Given the description of an element on the screen output the (x, y) to click on. 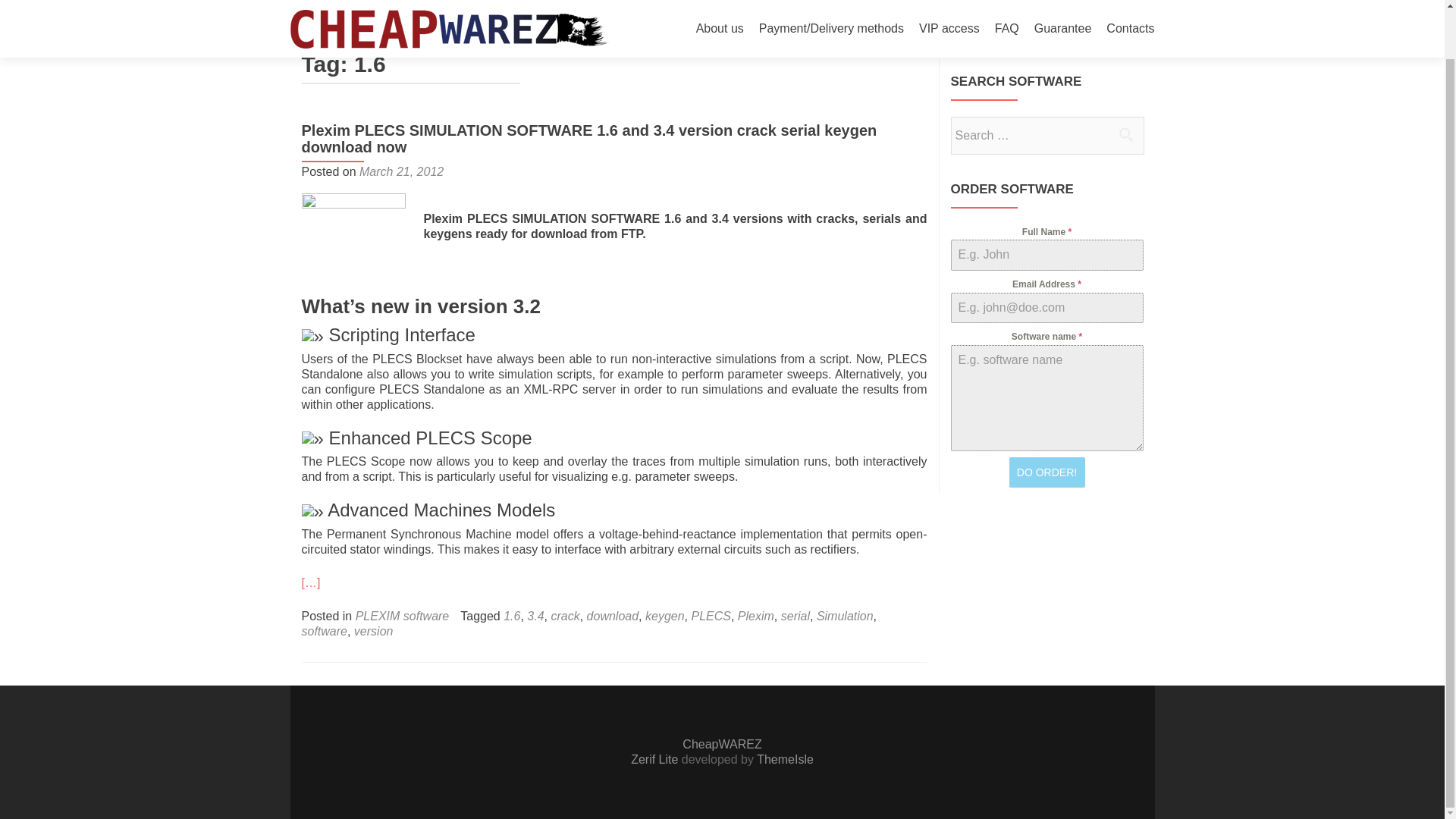
PLEXIM software (402, 615)
Search (1125, 134)
software (324, 631)
serial (794, 615)
DO ORDER! (1046, 472)
March 21, 2012 (401, 171)
Simulation (844, 615)
PLECS (710, 615)
Search (1125, 134)
Search (1125, 134)
ThemeIsle (785, 758)
Plexim (756, 615)
version (373, 631)
crack (564, 615)
download (612, 615)
